Given the description of an element on the screen output the (x, y) to click on. 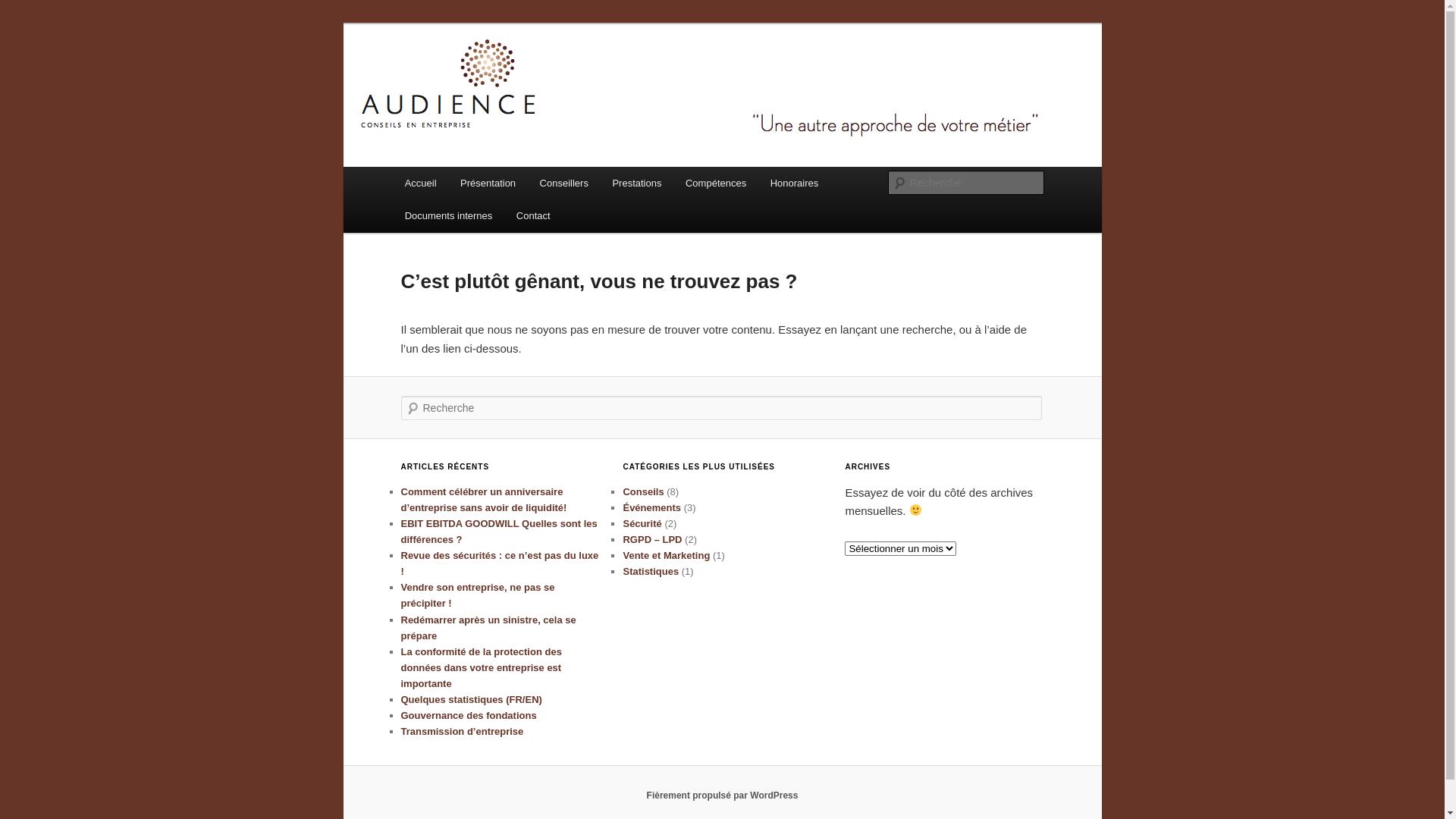
Statistiques Element type: text (650, 571)
Honoraires Element type: text (794, 182)
Aller au contenu principal Element type: text (22, 22)
Conseils Element type: text (642, 491)
Documents internes Element type: text (448, 215)
Quelques statistiques (FR/EN) Element type: text (470, 699)
Recherche Element type: text (33, 8)
Contact Element type: text (532, 215)
Accueil Element type: text (420, 182)
Audience Element type: text (451, 78)
Prestations Element type: text (637, 182)
Conseillers Element type: text (563, 182)
Gouvernance des fondations Element type: text (468, 715)
Vente et Marketing Element type: text (665, 555)
